Given the description of an element on the screen output the (x, y) to click on. 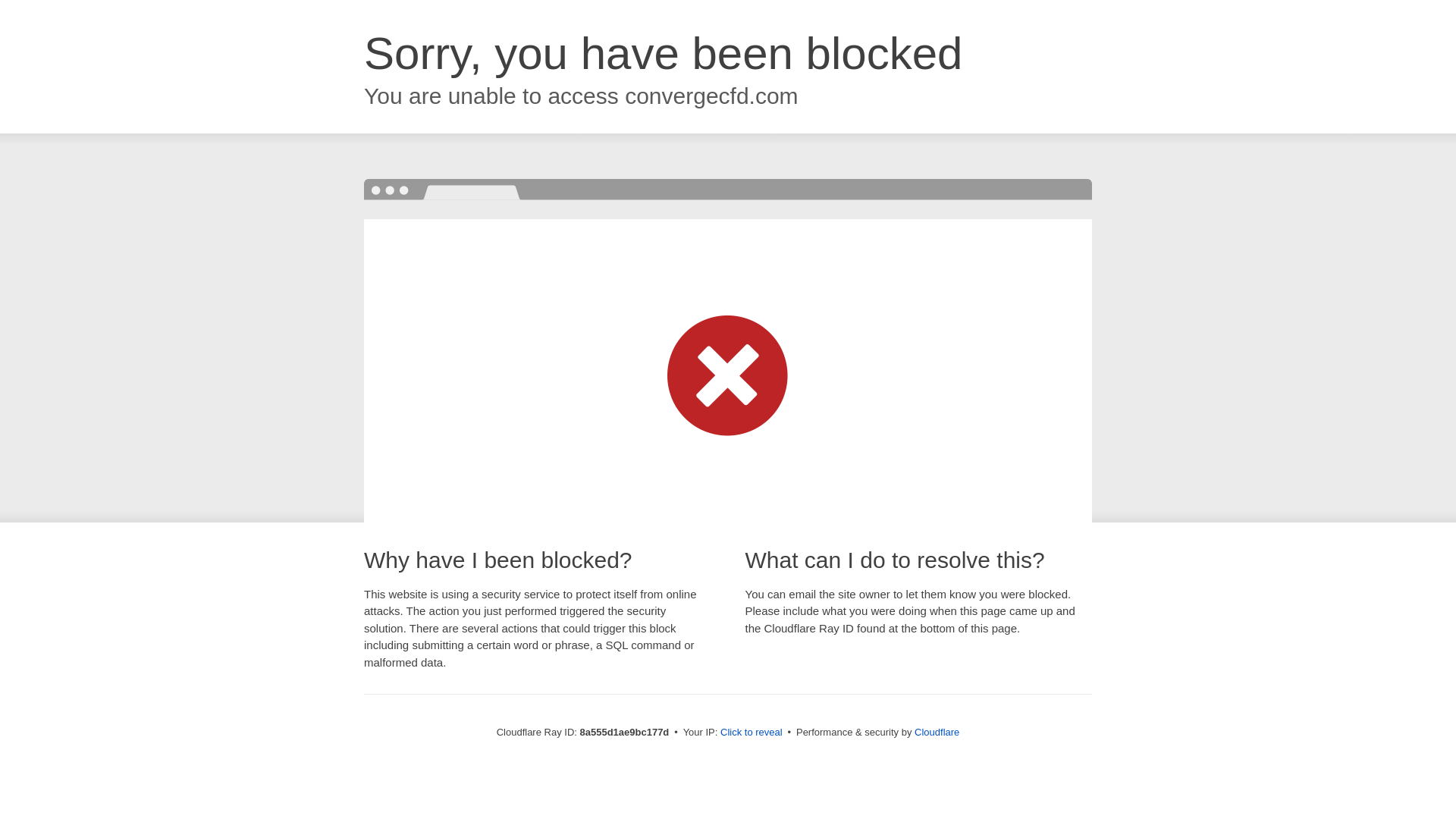
Click to reveal (751, 732)
Cloudflare (936, 731)
